Given the description of an element on the screen output the (x, y) to click on. 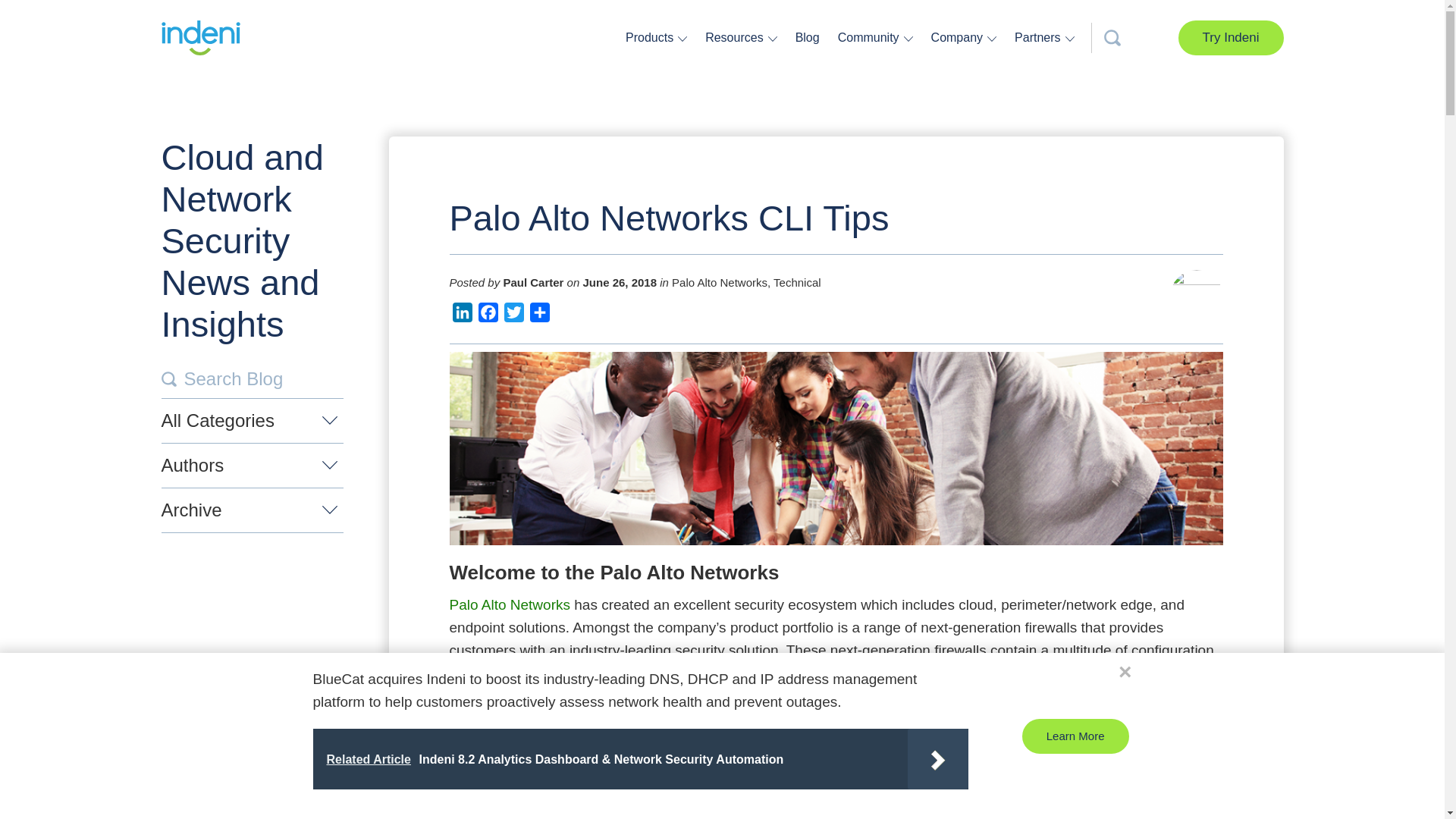
Search (168, 378)
Indeni (200, 37)
Try Indeni (1230, 37)
Subscribe Now (739, 530)
Products (651, 37)
Indeni (200, 37)
Resources (735, 37)
Community (870, 37)
